Given the description of an element on the screen output the (x, y) to click on. 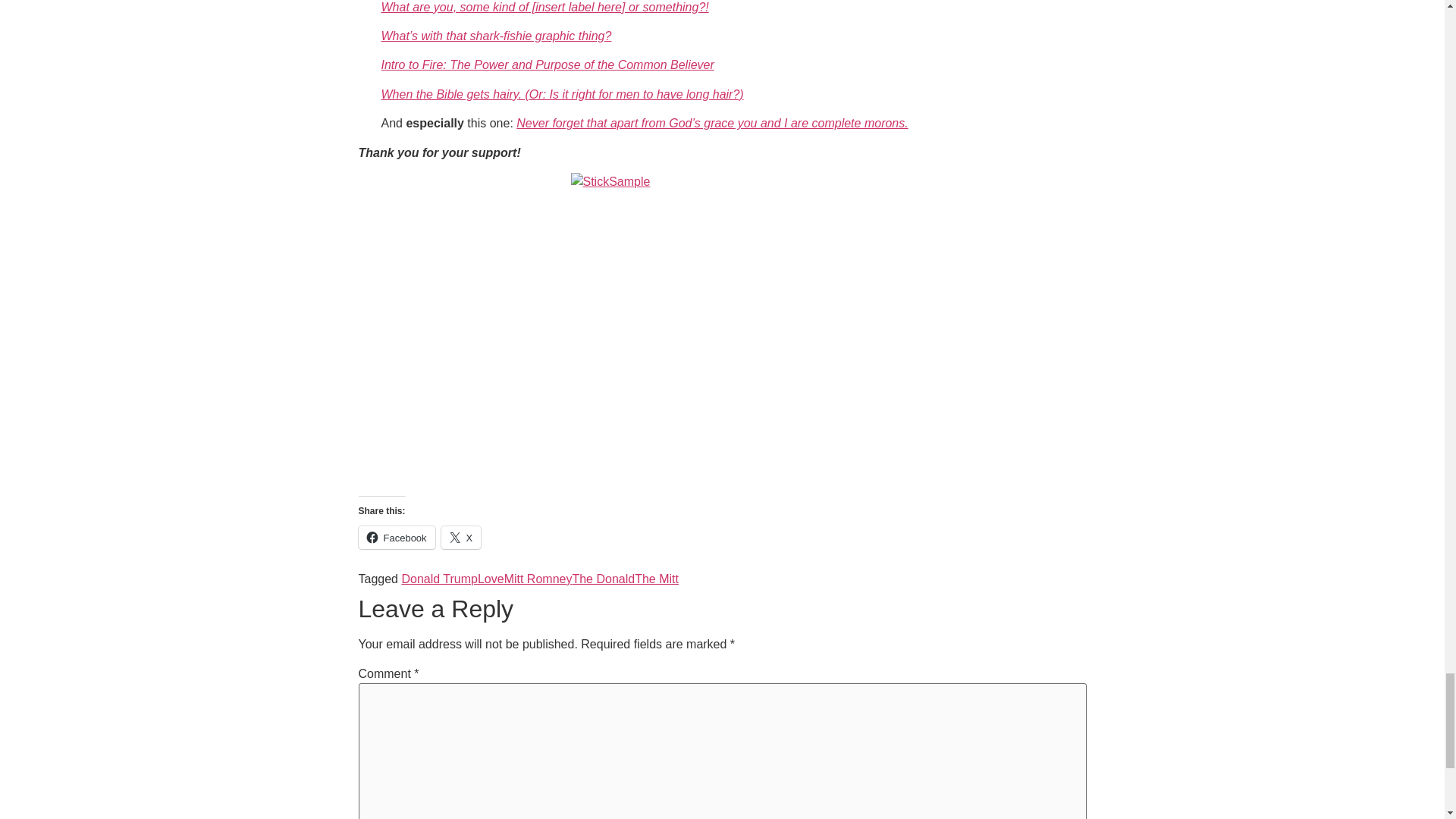
Click to share on X (461, 537)
Click to share on Facebook (395, 537)
